Given the description of an element on the screen output the (x, y) to click on. 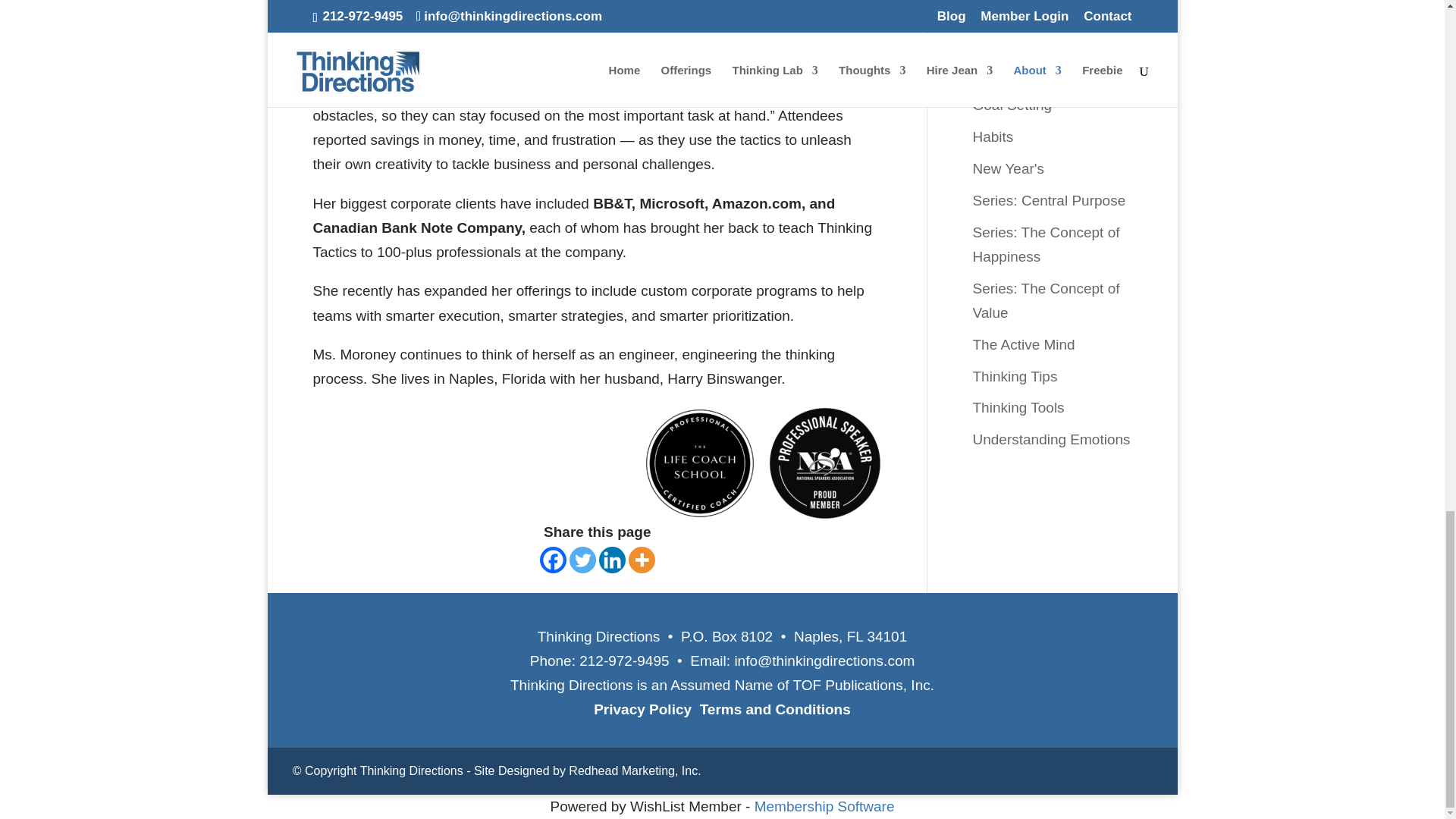
Twitter (582, 560)
Facebook (553, 560)
Linkedin (612, 560)
More (641, 560)
